Given the description of an element on the screen output the (x, y) to click on. 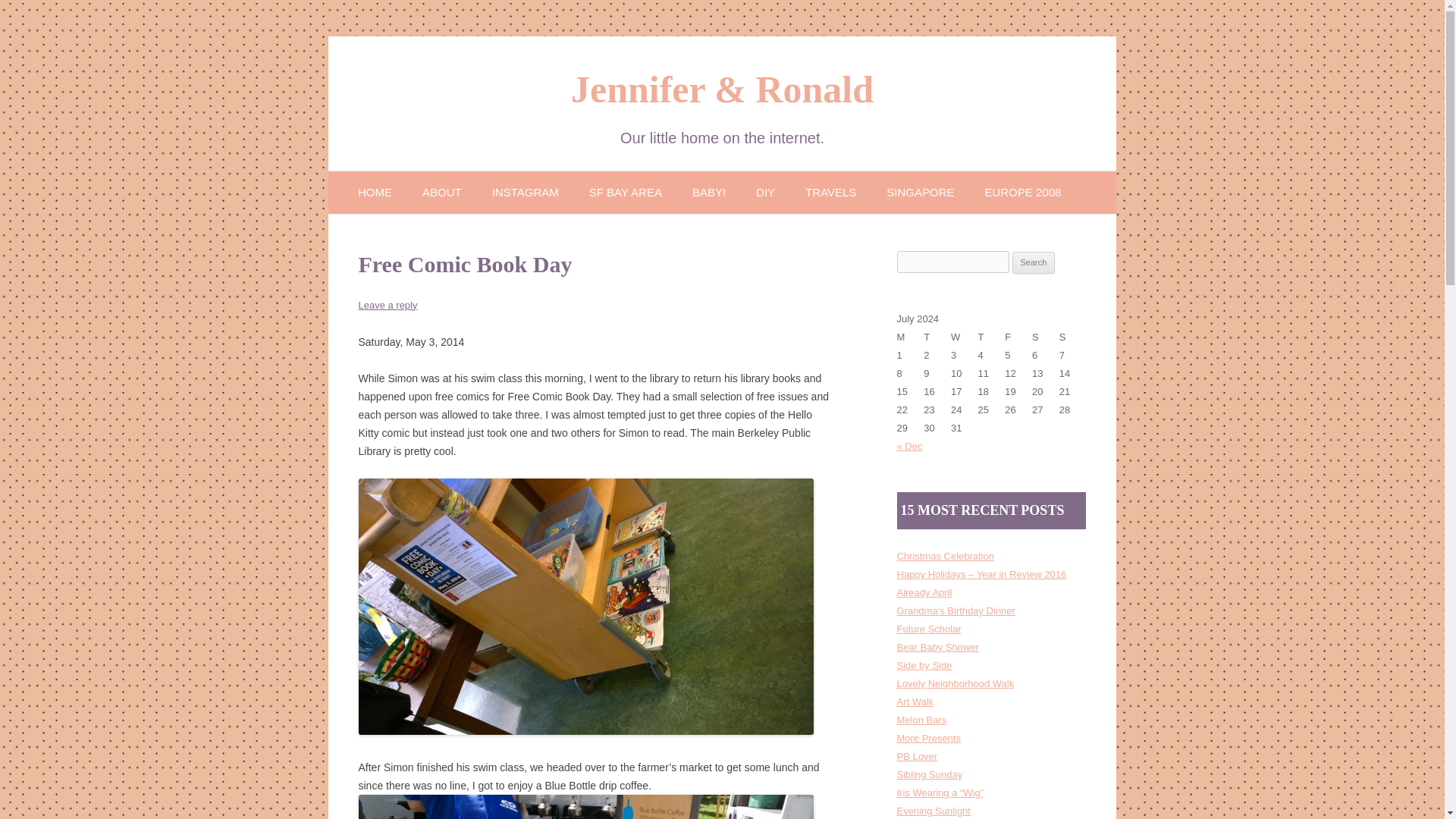
Christmas Celebration (944, 555)
Wednesday (964, 337)
Melon Bars (921, 719)
SF BAY AREA (625, 191)
More Presents (927, 737)
Sibling Sunday (929, 774)
Search (1033, 262)
INSTAGRAM (525, 191)
TRAVELS (830, 191)
Side by Side (924, 665)
PB Lover (916, 756)
Lovely Neighborhood Walk (954, 683)
Tuesday (936, 337)
Friday (1018, 337)
Sunday (1072, 337)
